Given the description of an element on the screen output the (x, y) to click on. 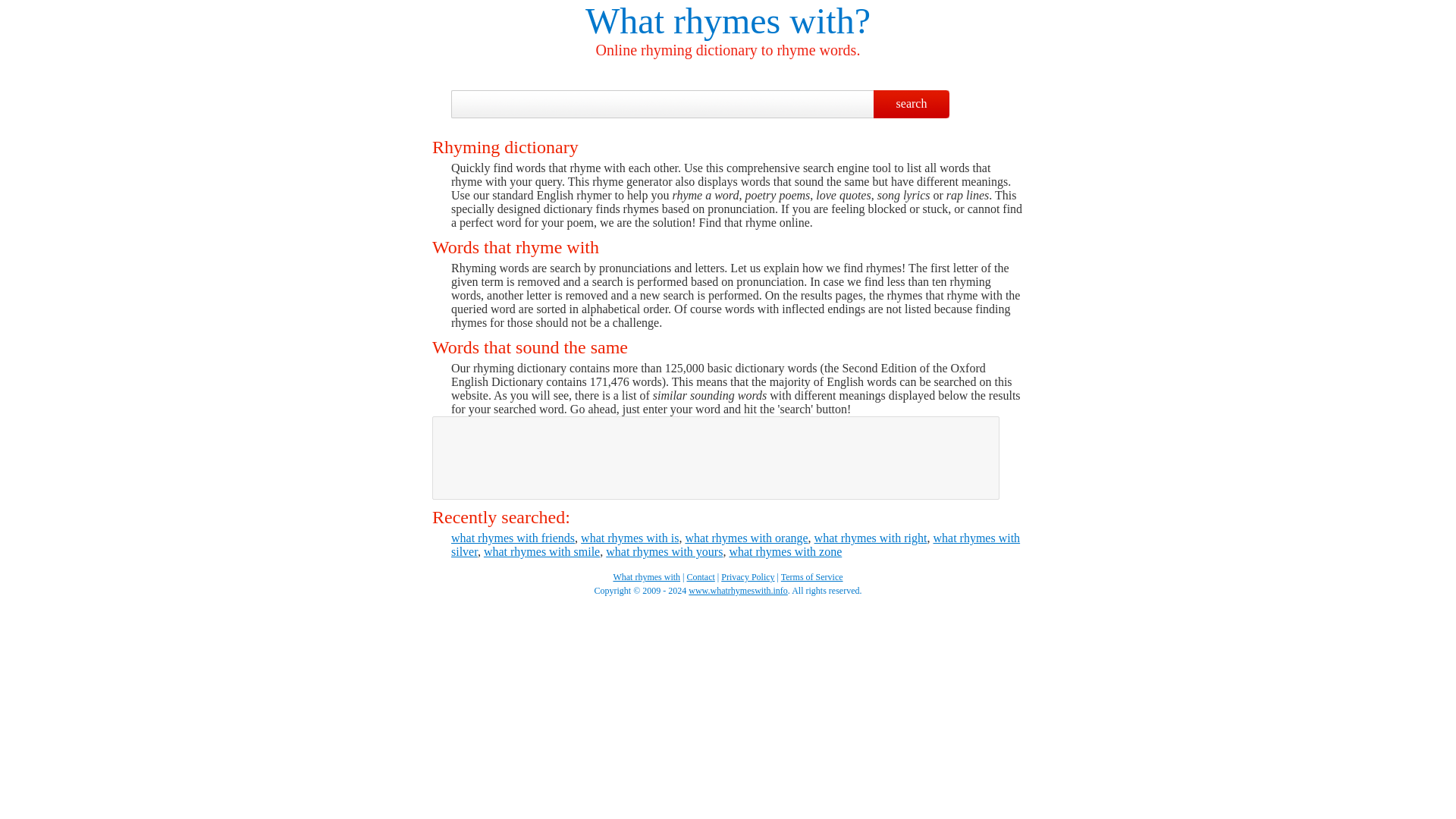
what rhymes with right (870, 537)
Privacy Policy (747, 576)
what rhymes with is (629, 537)
search (911, 103)
what rhymes with smile (541, 551)
what rhymes with yours (663, 551)
search (911, 103)
Rhyming dictionary (645, 576)
Advertisement (715, 458)
what rhymes with zone (785, 551)
